Given the description of an element on the screen output the (x, y) to click on. 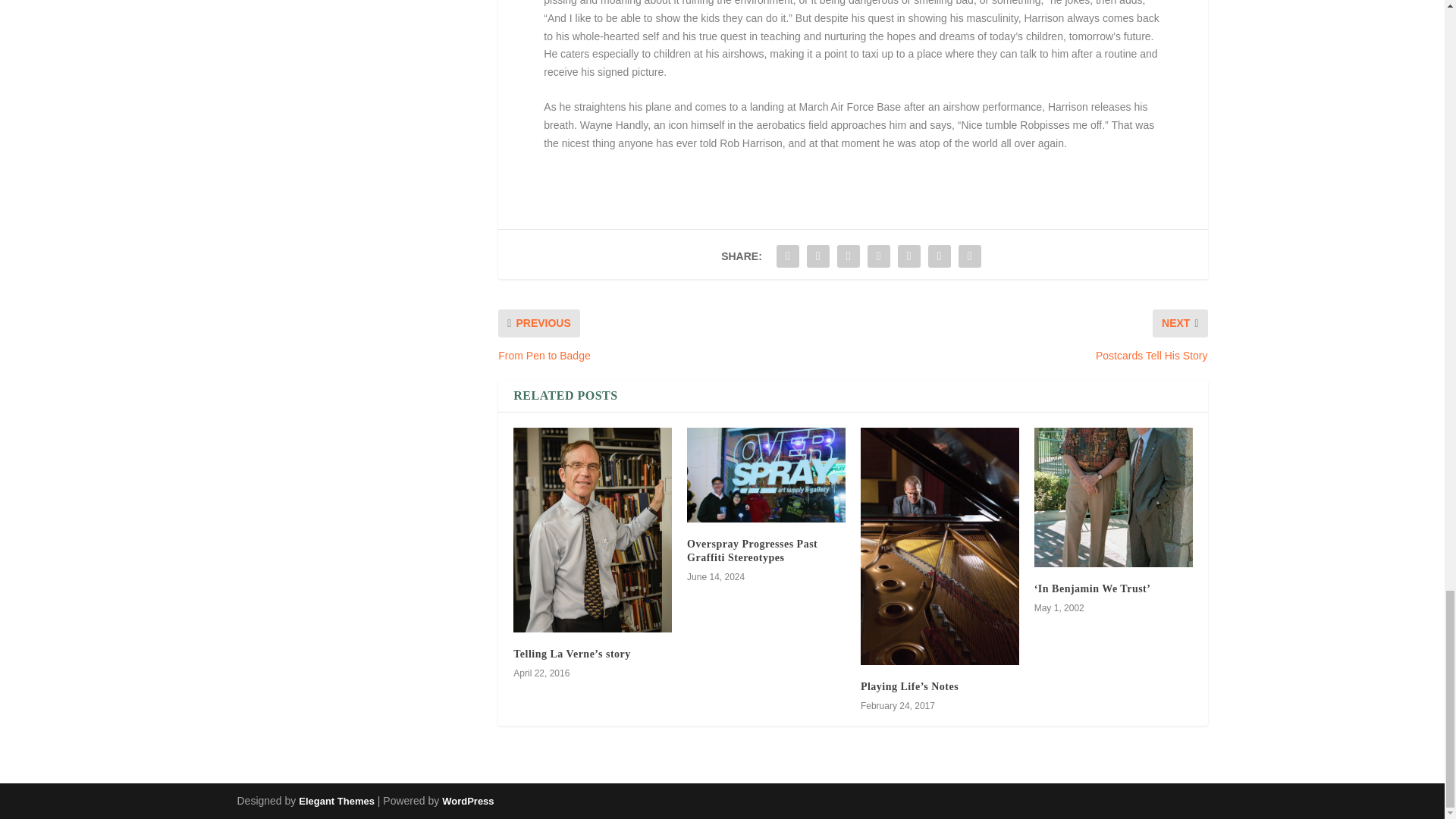
Overspray Progresses Past Graffiti Stereotypes (766, 474)
Overspray Progresses Past Graffiti Stereotypes (751, 550)
